Given the description of an element on the screen output the (x, y) to click on. 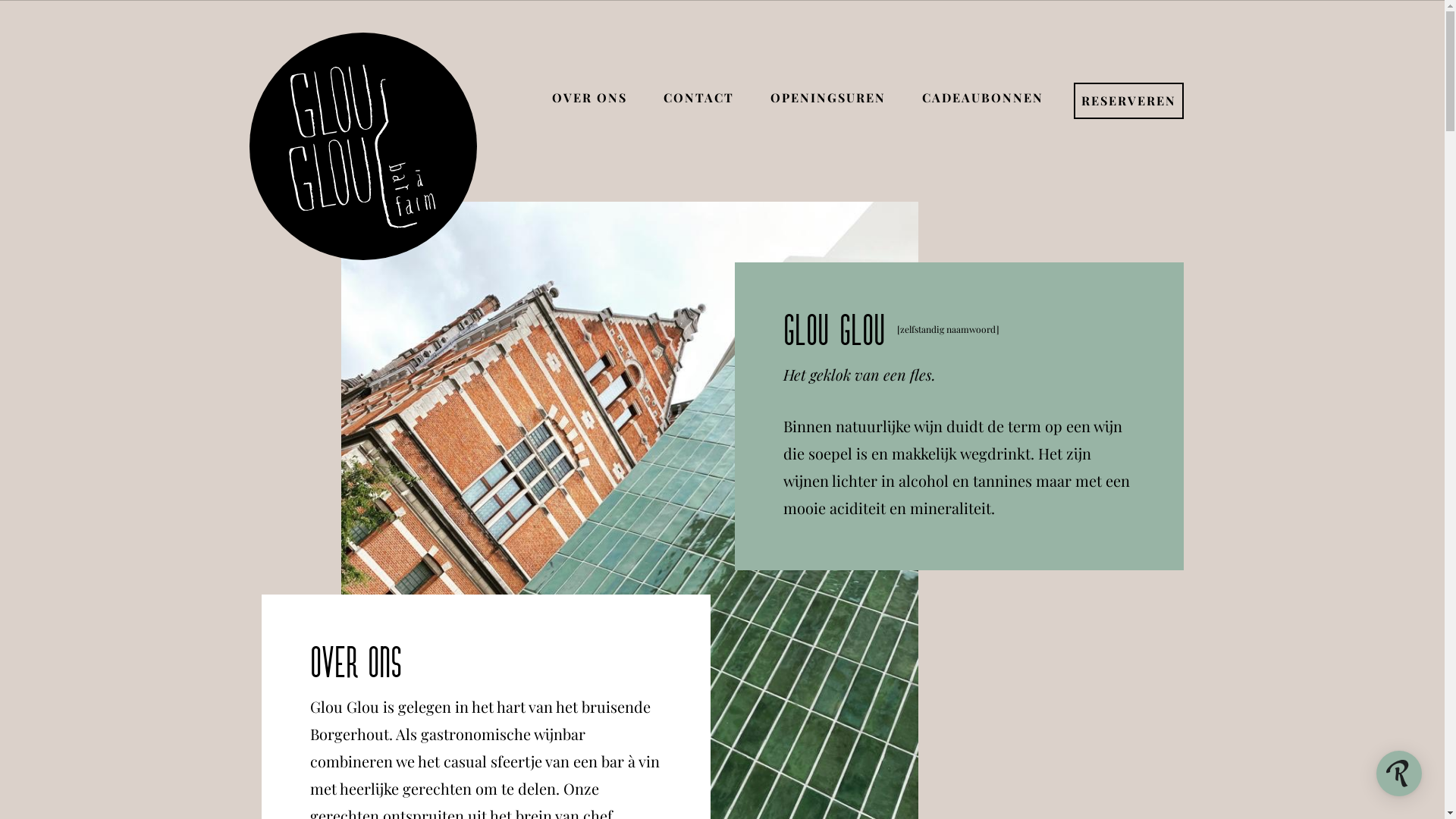
CADEAUBONNEN Element type: text (982, 97)
RESERVEREN Element type: text (1128, 100)
OVER ONS Element type: text (589, 97)
OPENINGSUREN Element type: text (827, 97)
CONTACT Element type: text (697, 97)
